Given the description of an element on the screen output the (x, y) to click on. 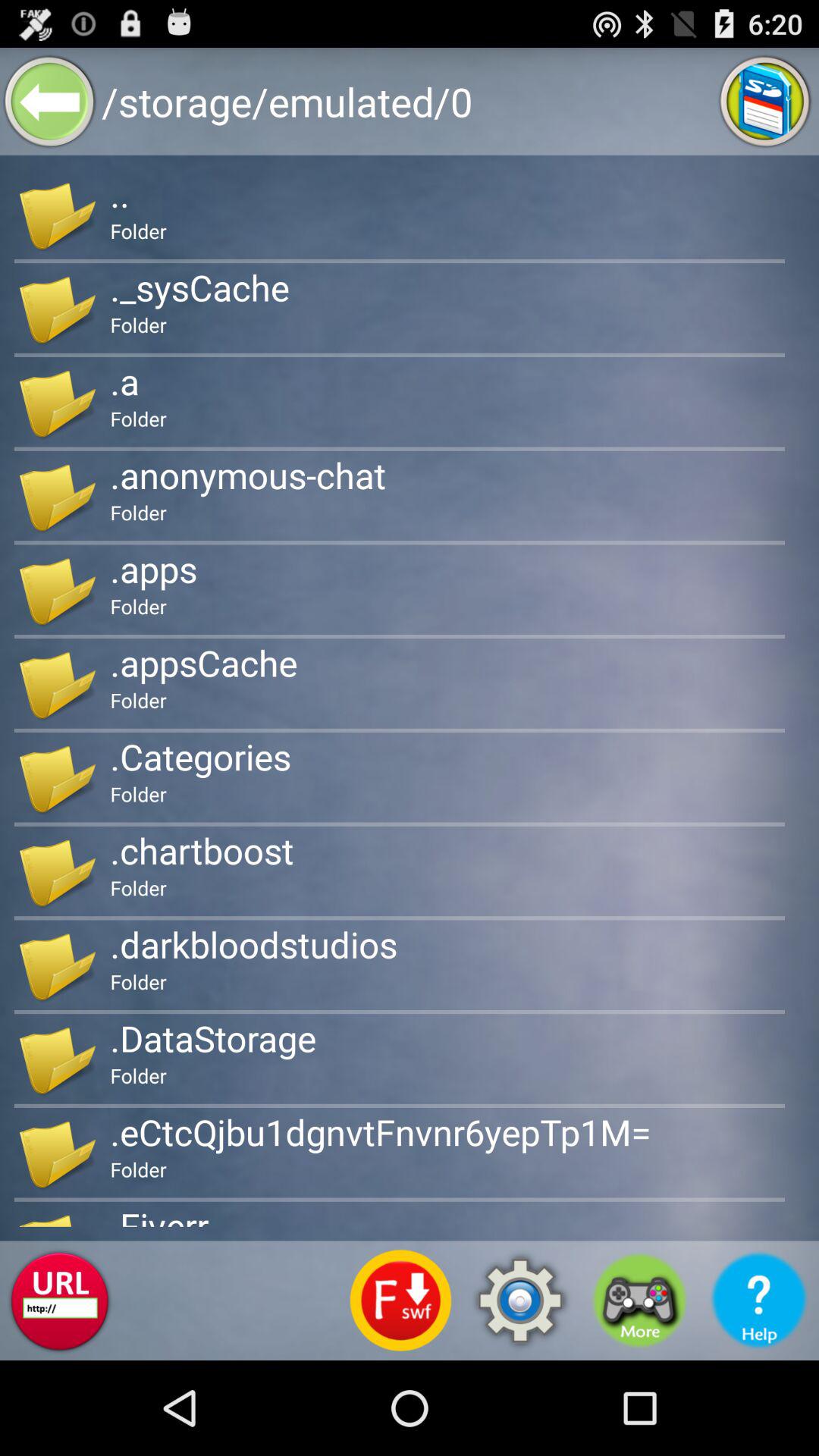
choose the item next to the /storage/emulated/0 (765, 101)
